Given the description of an element on the screen output the (x, y) to click on. 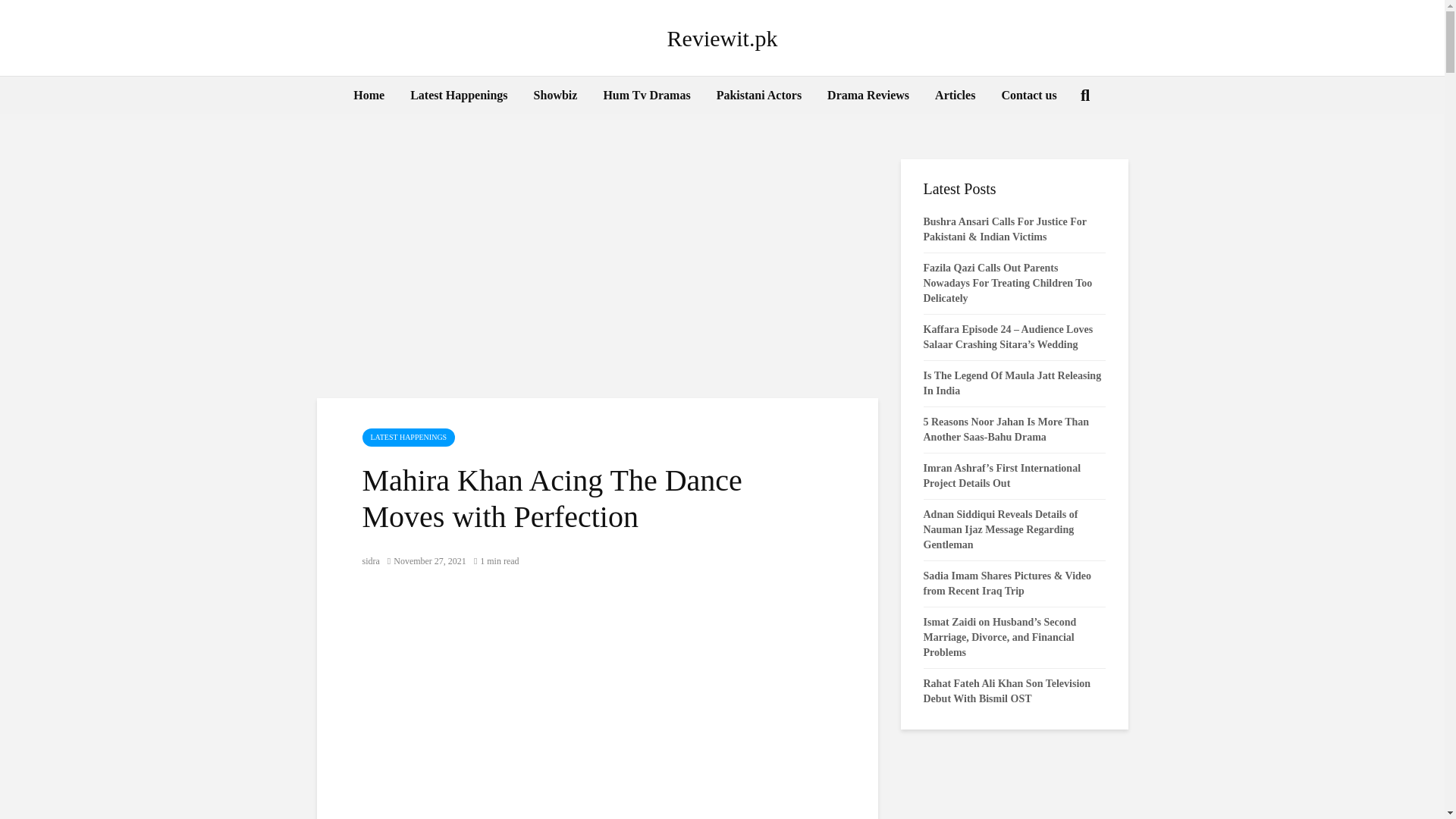
LATEST HAPPENINGS (408, 437)
Pakistani Actors (758, 95)
Hum Tv Dramas (646, 95)
Showbiz (555, 95)
sidra (371, 561)
Contact us (1028, 95)
Hum Tv Dramas (646, 95)
Drama Reviews (867, 95)
Latest Happenings (458, 95)
